Given the description of an element on the screen output the (x, y) to click on. 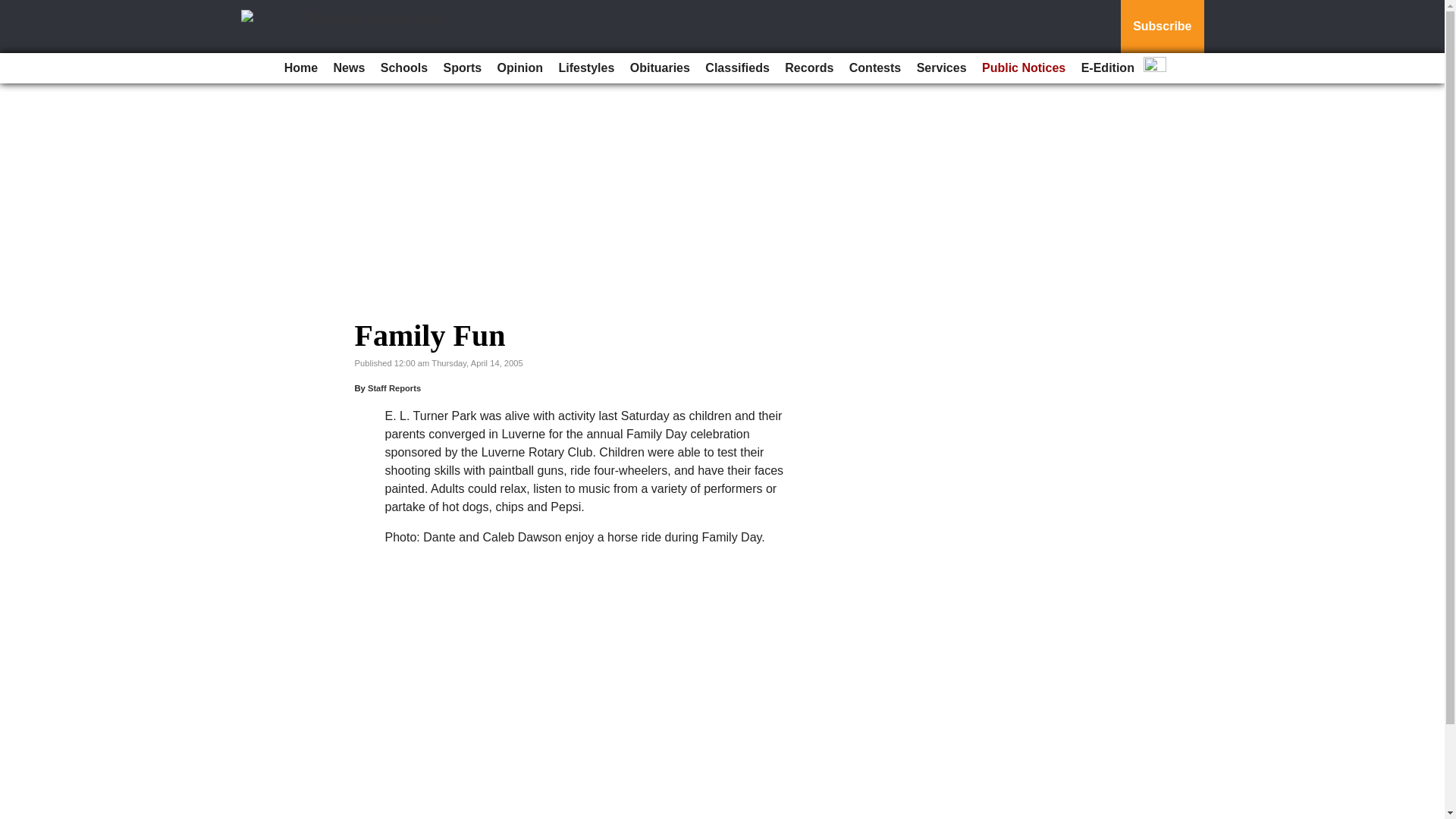
News (349, 68)
Records (809, 68)
Sports (461, 68)
Obituaries (659, 68)
Go (13, 9)
Opinion (520, 68)
Classifieds (736, 68)
Schools (403, 68)
Home (300, 68)
Contests (875, 68)
